Given the description of an element on the screen output the (x, y) to click on. 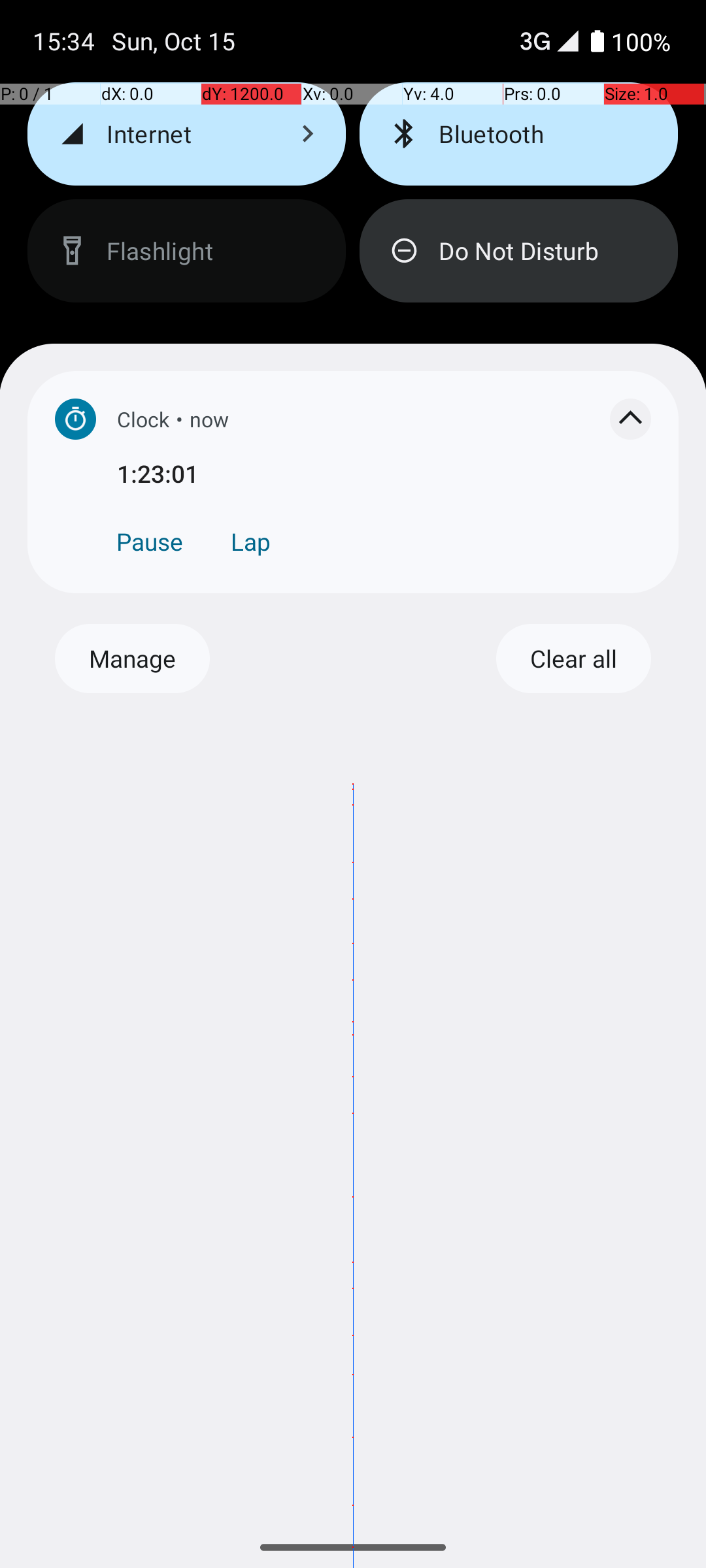
Clear all Element type: android.widget.Button (573, 658)
1:23:01 Element type: android.widget.Chronometer (384, 473)
